Given the description of an element on the screen output the (x, y) to click on. 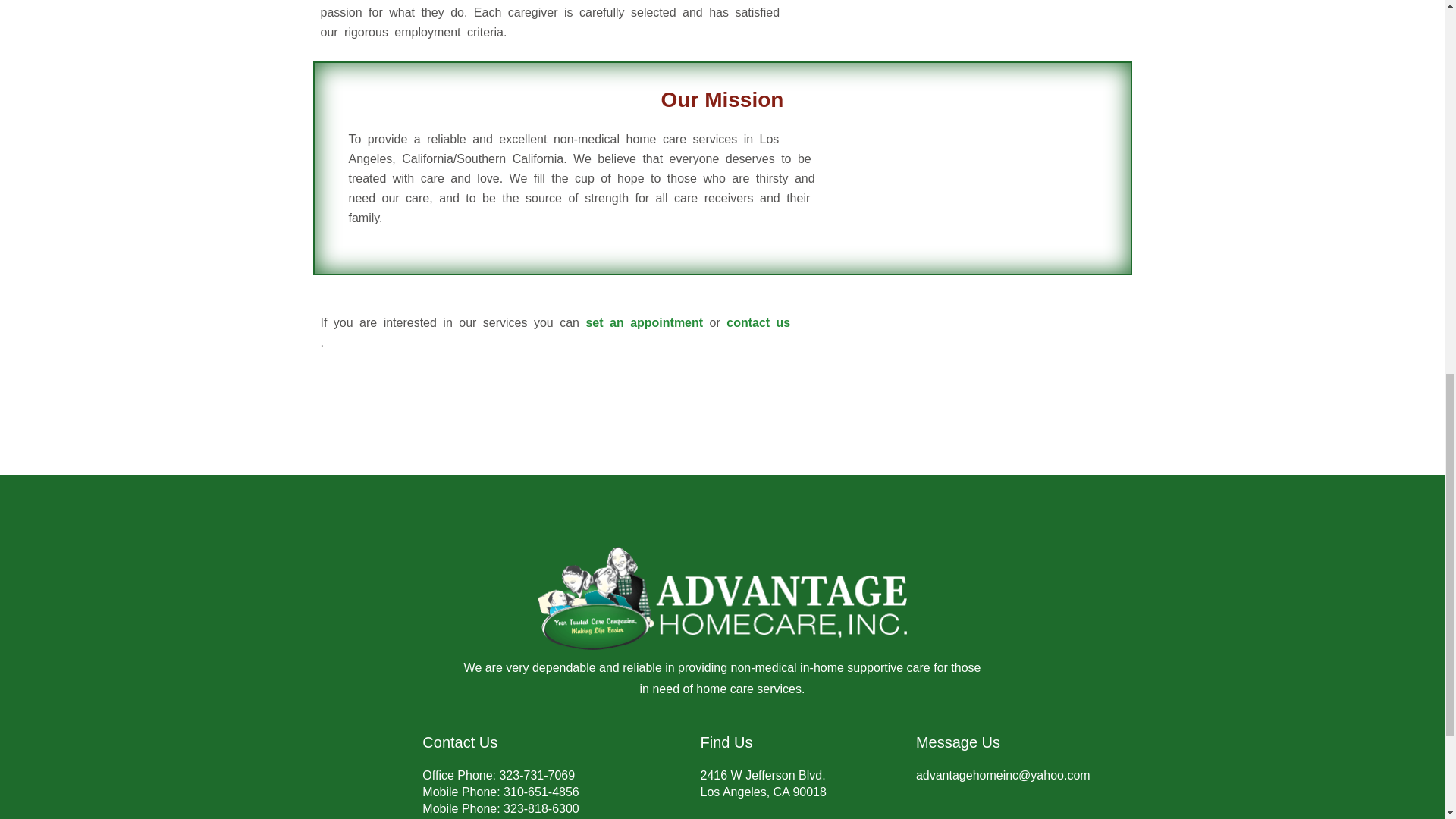
contact us (758, 322)
set an appointment (644, 322)
